Given the description of an element on the screen output the (x, y) to click on. 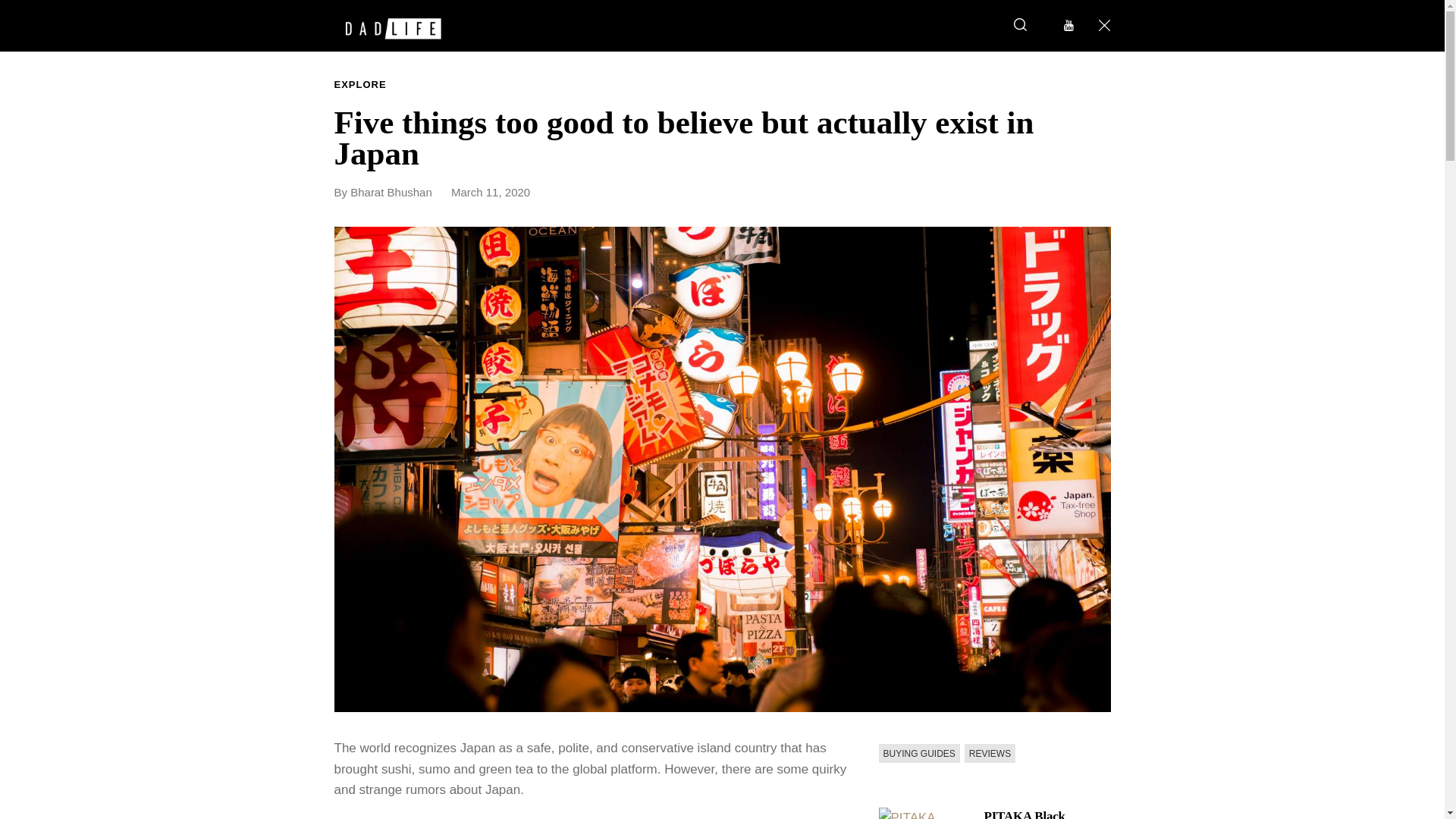
EXPLORE (359, 84)
BUYING GUIDES (918, 752)
REVIEWS (988, 752)
By Bharat Bhushan (389, 192)
